Given the description of an element on the screen output the (x, y) to click on. 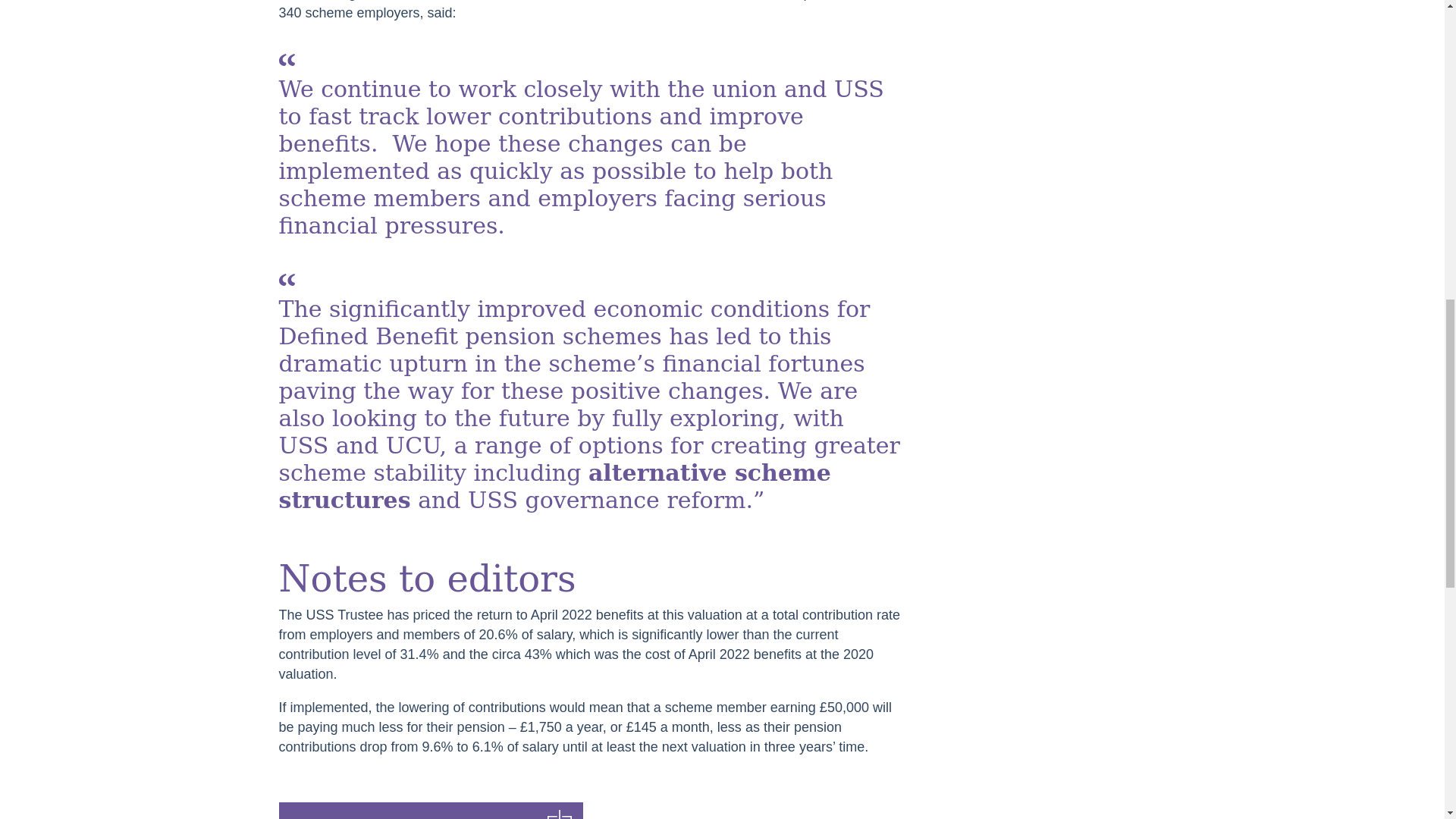
alternative scheme structures (555, 486)
Letter to USS, 29 September 2023 (431, 810)
uuk-letter-carol-young-290923.pdf (431, 810)
